Given the description of an element on the screen output the (x, y) to click on. 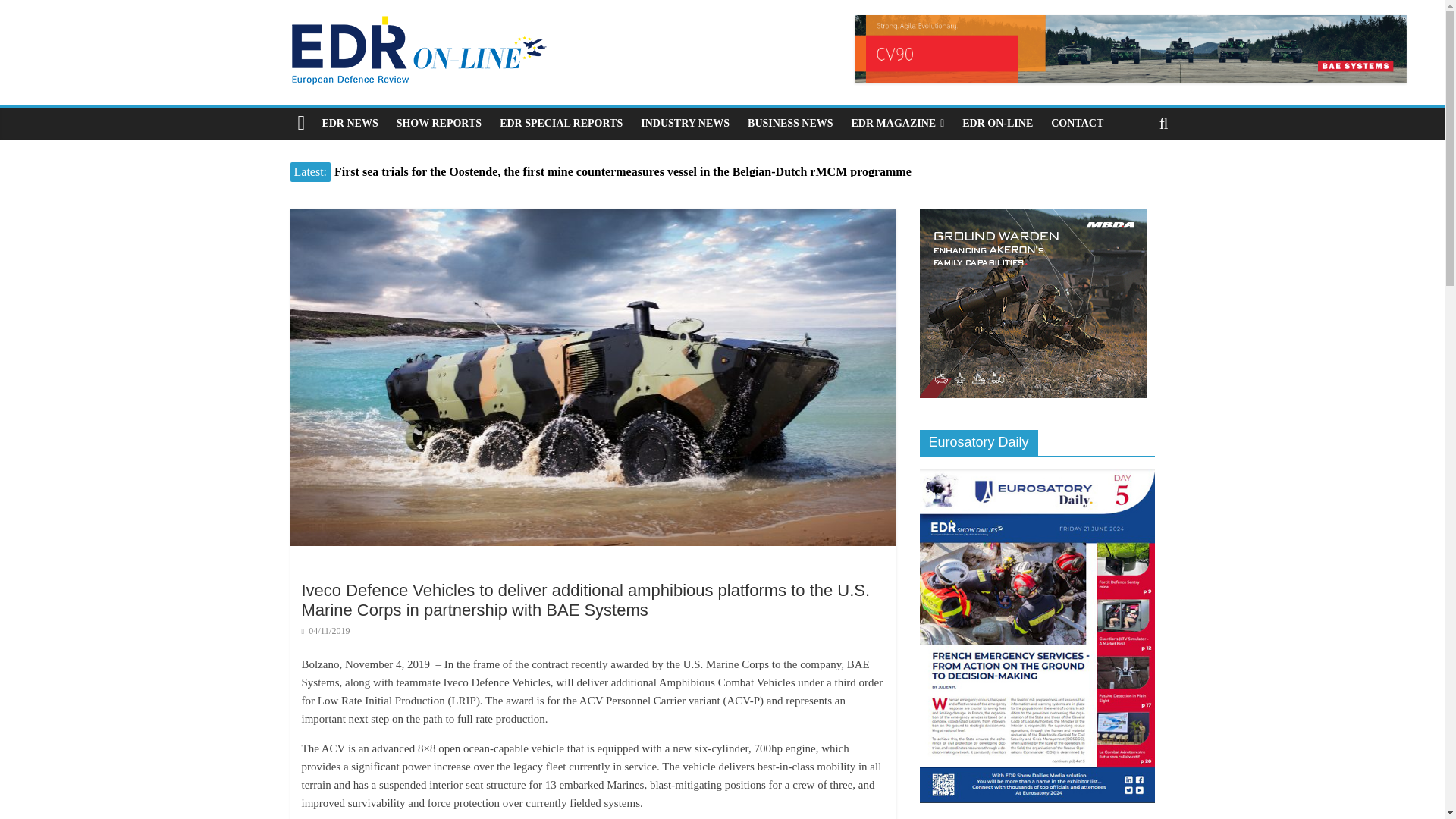
09:24 (325, 630)
SHOW REPORTS (438, 123)
EDR MAGAZINE (898, 123)
EDR ON-LINE (997, 123)
CONTACT (1077, 123)
EDR NEWS (350, 123)
INDUSTRY NEWS (684, 123)
EDR News (350, 123)
BUSINESS NEWS (789, 123)
EDR SPECIAL REPORTS (560, 123)
Industry Press (684, 123)
